Given the description of an element on the screen output the (x, y) to click on. 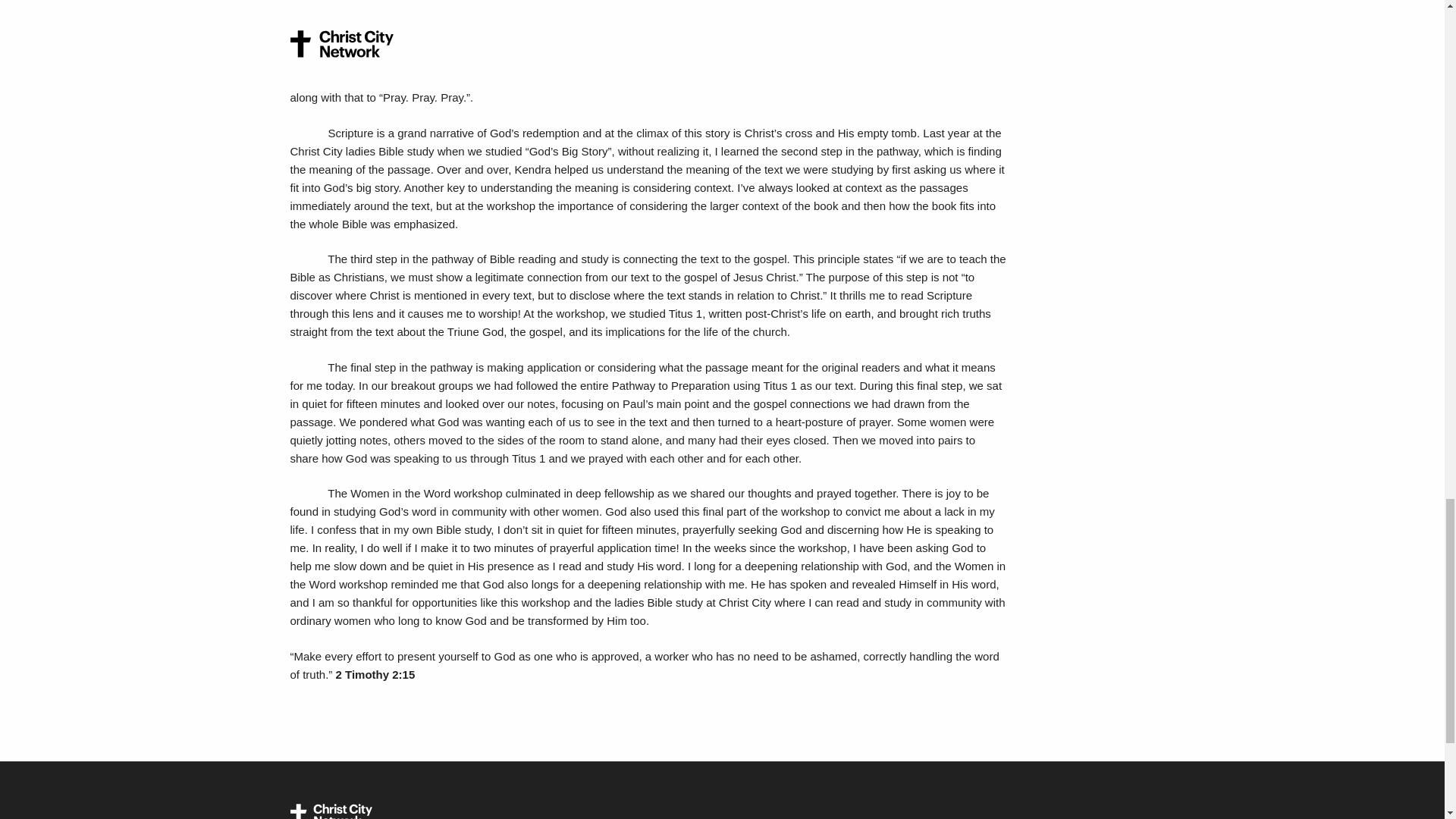
A network of neighbourhood churches (330, 811)
